Given the description of an element on the screen output the (x, y) to click on. 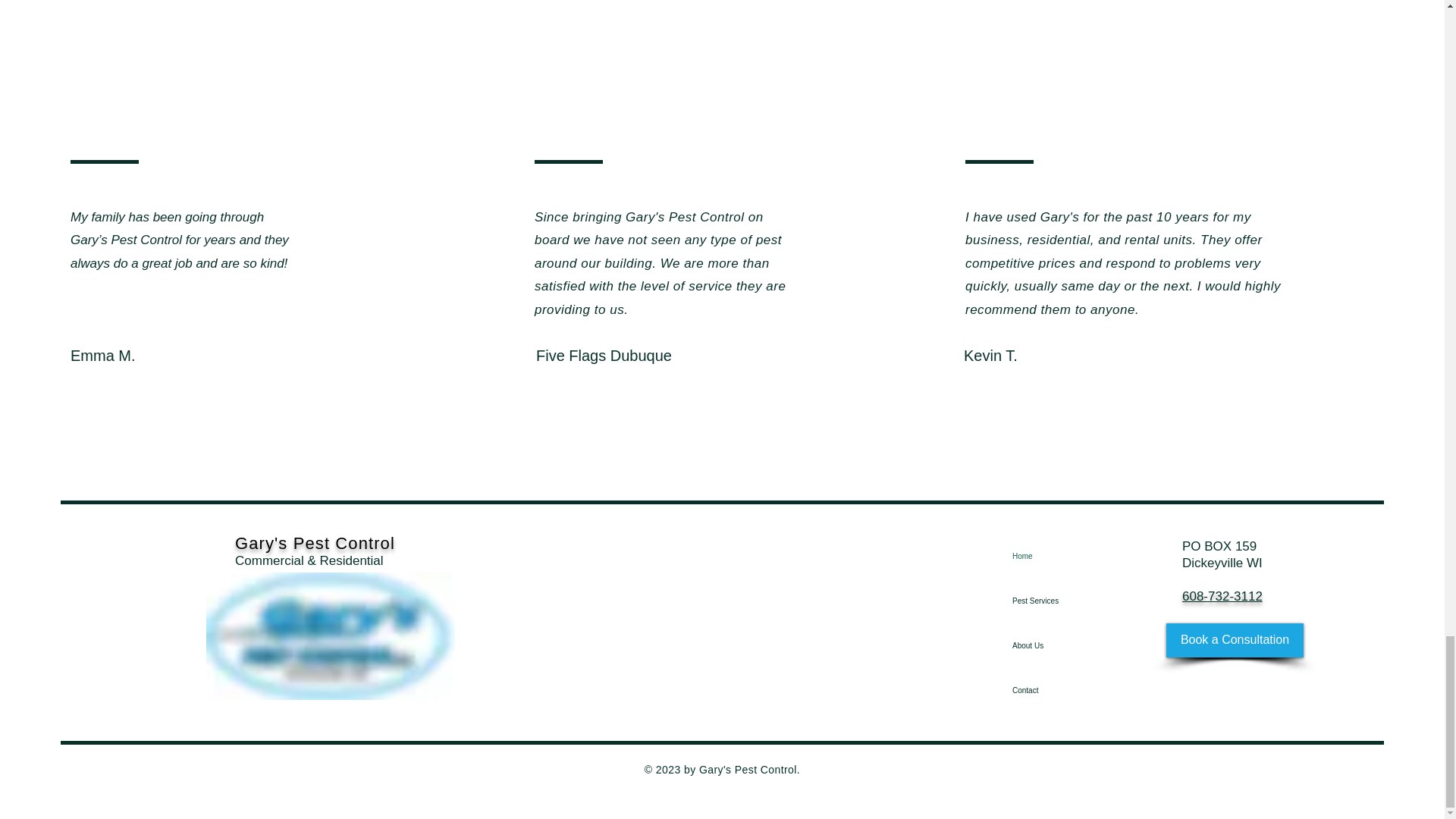
Contact (1053, 690)
About Us (1053, 645)
Home (1053, 555)
Gary's Pest Control (314, 542)
608-732-3112 (1222, 595)
Pest Services (1053, 600)
Book a Consultation (1234, 640)
